Given the description of an element on the screen output the (x, y) to click on. 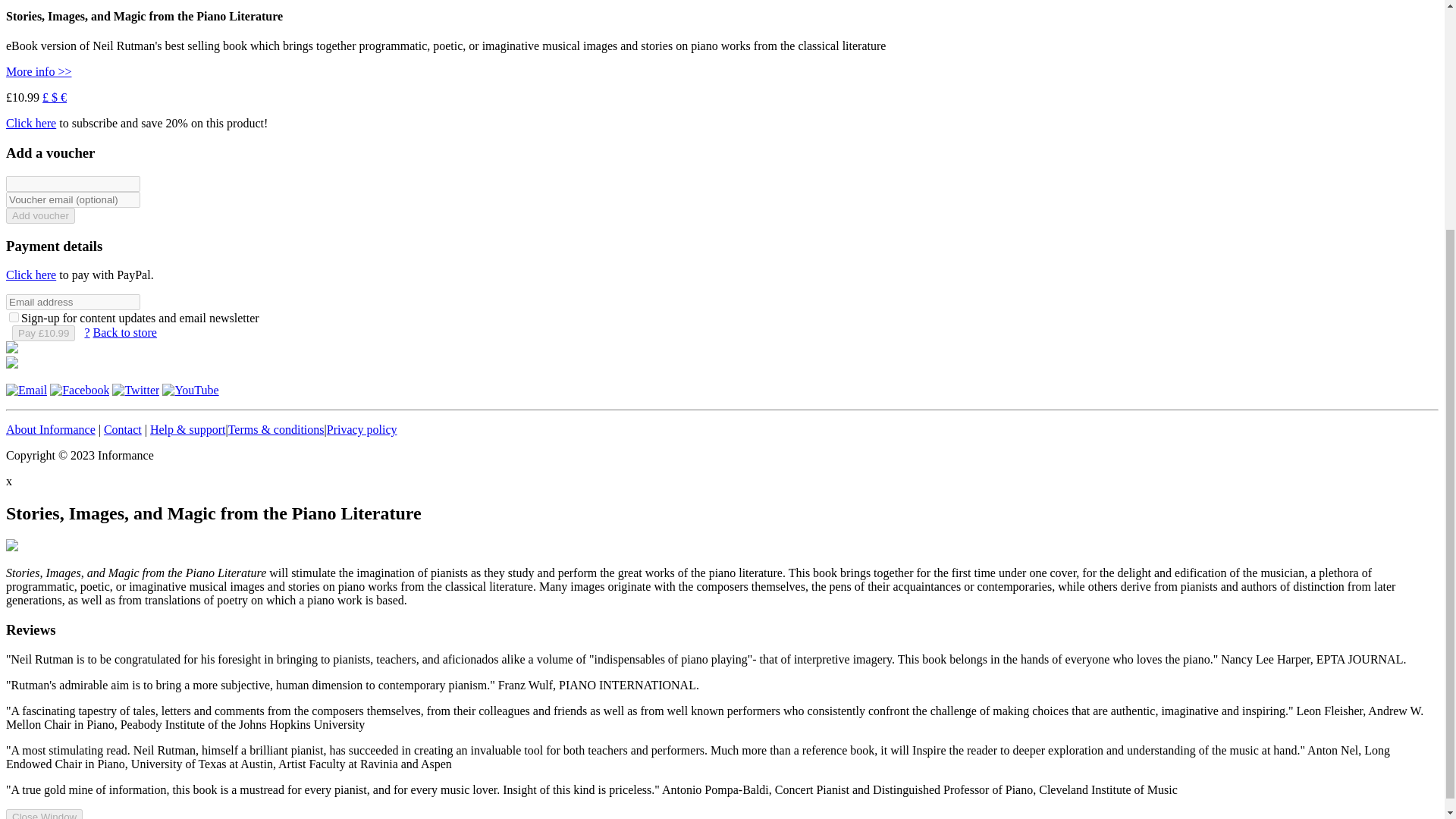
About Informance (50, 429)
Back to store (125, 332)
Add voucher (40, 215)
Contact (122, 429)
Click here (30, 274)
Add voucher (40, 215)
Click here (30, 123)
1 (13, 317)
